Given the description of an element on the screen output the (x, y) to click on. 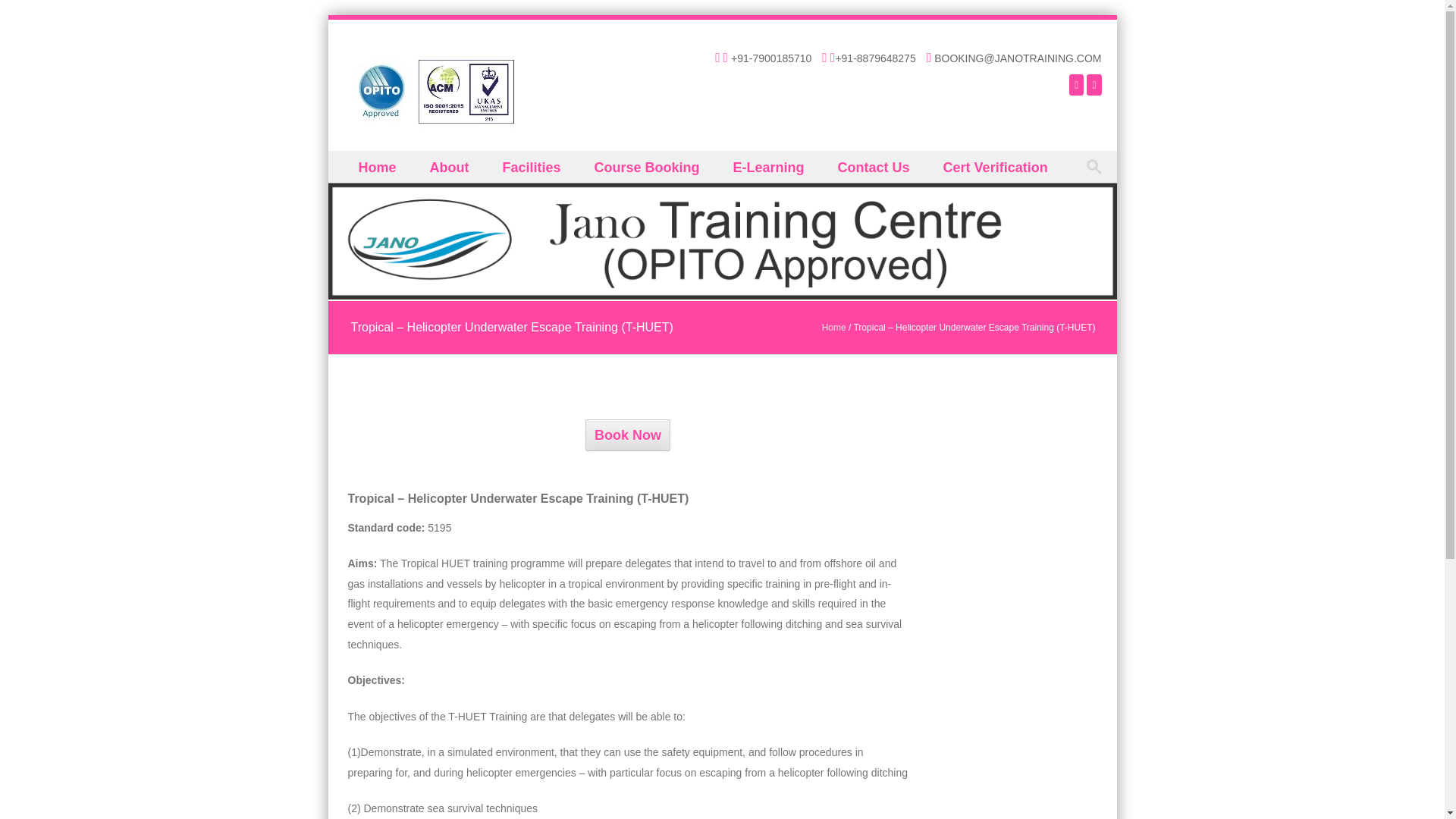
Search (26, 14)
E-Learning (769, 166)
Book Now (627, 435)
Menu (353, 183)
Contact Us (875, 166)
Jano Training (434, 91)
Book Now (627, 435)
Home (833, 327)
Skip to content (362, 160)
Facilities (532, 166)
About (450, 166)
Search for: (1097, 166)
Skip to content (362, 160)
Navigation Toggle (353, 183)
Home (377, 166)
